Given the description of an element on the screen output the (x, y) to click on. 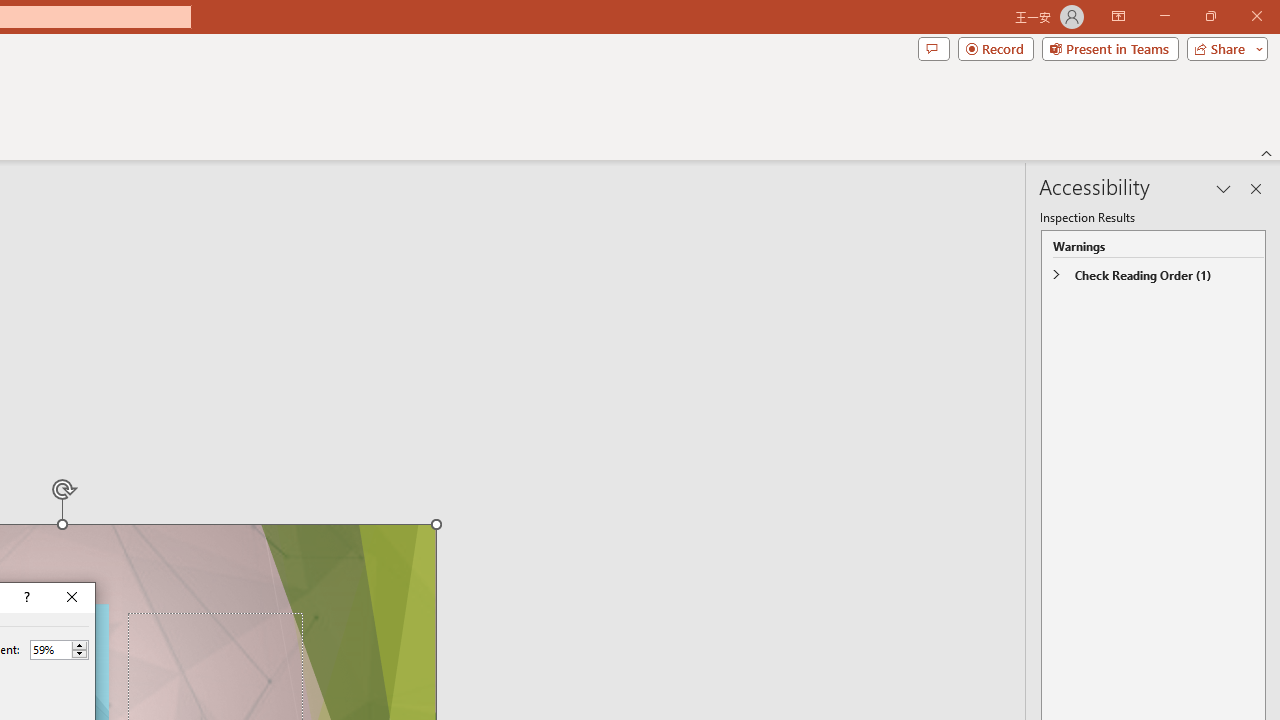
Task Pane Options (1224, 188)
